Given the description of an element on the screen output the (x, y) to click on. 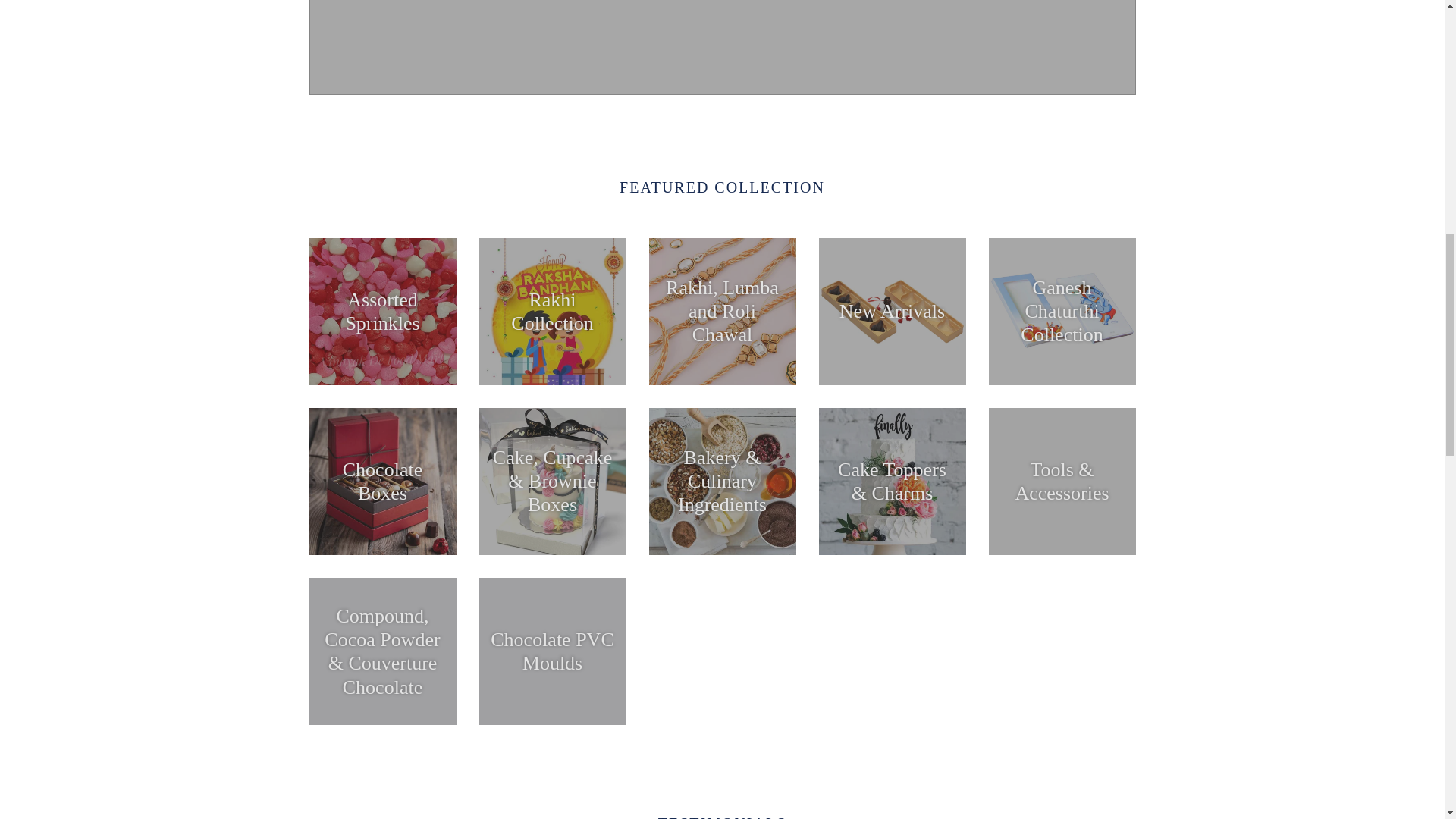
Ganesh Chaturthi Collection (1061, 311)
Chocolate Boxes (382, 481)
Assorted Sprinkles (382, 311)
Rakhi Collection (552, 311)
New Arrivals (892, 311)
Chocolate PVC Moulds (552, 651)
Rakhi, Lumba and Roli Chawal (722, 311)
